Given the description of an element on the screen output the (x, y) to click on. 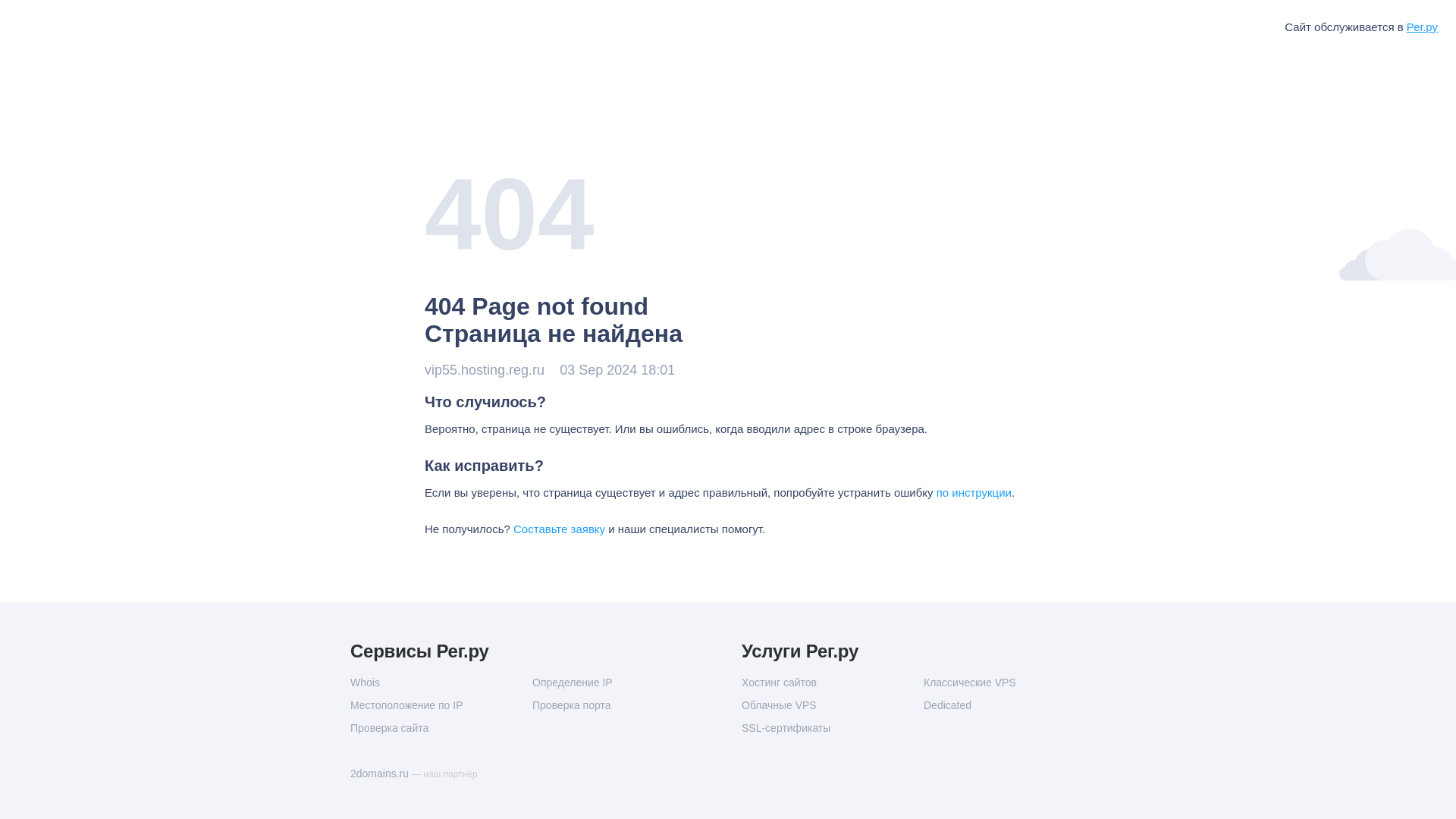
Dedicated (1014, 705)
2domains.ru (381, 773)
Whois (441, 682)
